Given the description of an element on the screen output the (x, y) to click on. 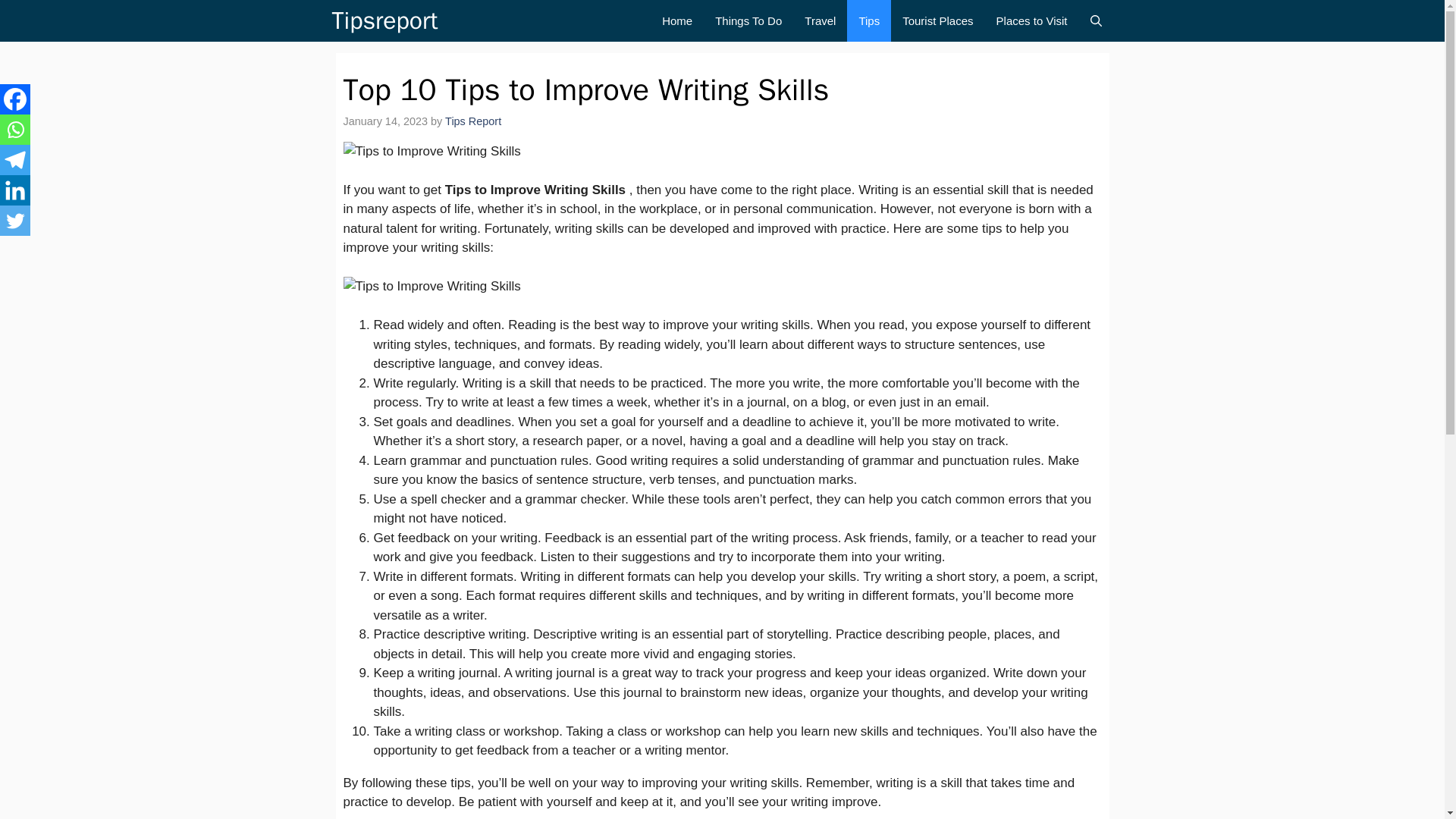
Telegram (15, 159)
Travel (820, 20)
Facebook (15, 99)
Things To Do (748, 20)
Whatsapp (15, 129)
Linkedin (15, 190)
Tourist Places (937, 20)
Twitter (15, 220)
Tips (869, 20)
View all posts by Tips Report (472, 121)
Home (676, 20)
Tipsreport (384, 20)
Places to Visit (1031, 20)
Tips Report (472, 121)
